Given the description of an element on the screen output the (x, y) to click on. 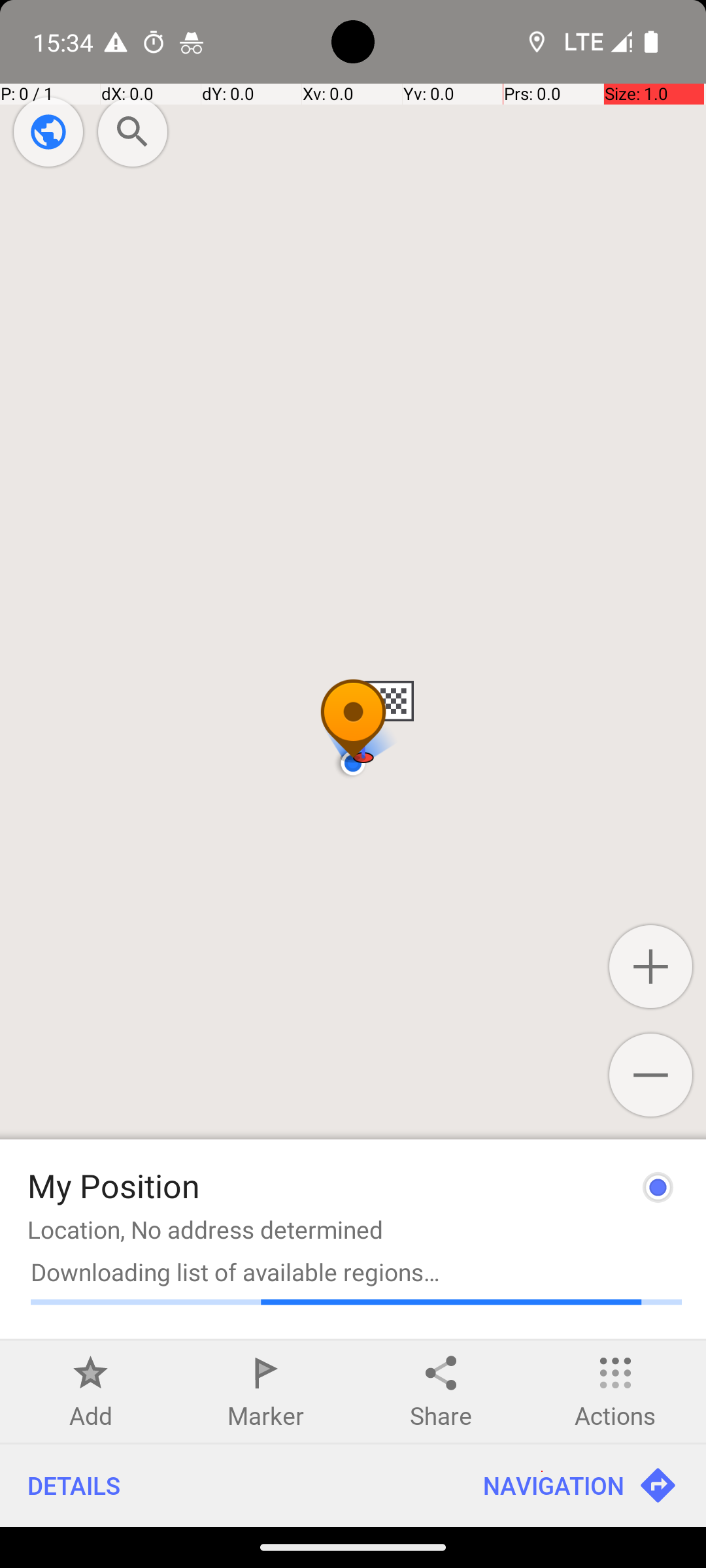
My Position Element type: android.widget.TextView (113, 1185)
Location, No address determined Element type: android.widget.TextView (205, 1228)
DETAILS Element type: android.widget.TextView (227, 1485)
NAVIGATION Element type: android.widget.TextView (580, 1485)
Downloading list of available regions… Element type: android.widget.TextView (355, 1271)
Marker Element type: android.widget.TextView (265, 1415)
